Given the description of an element on the screen output the (x, y) to click on. 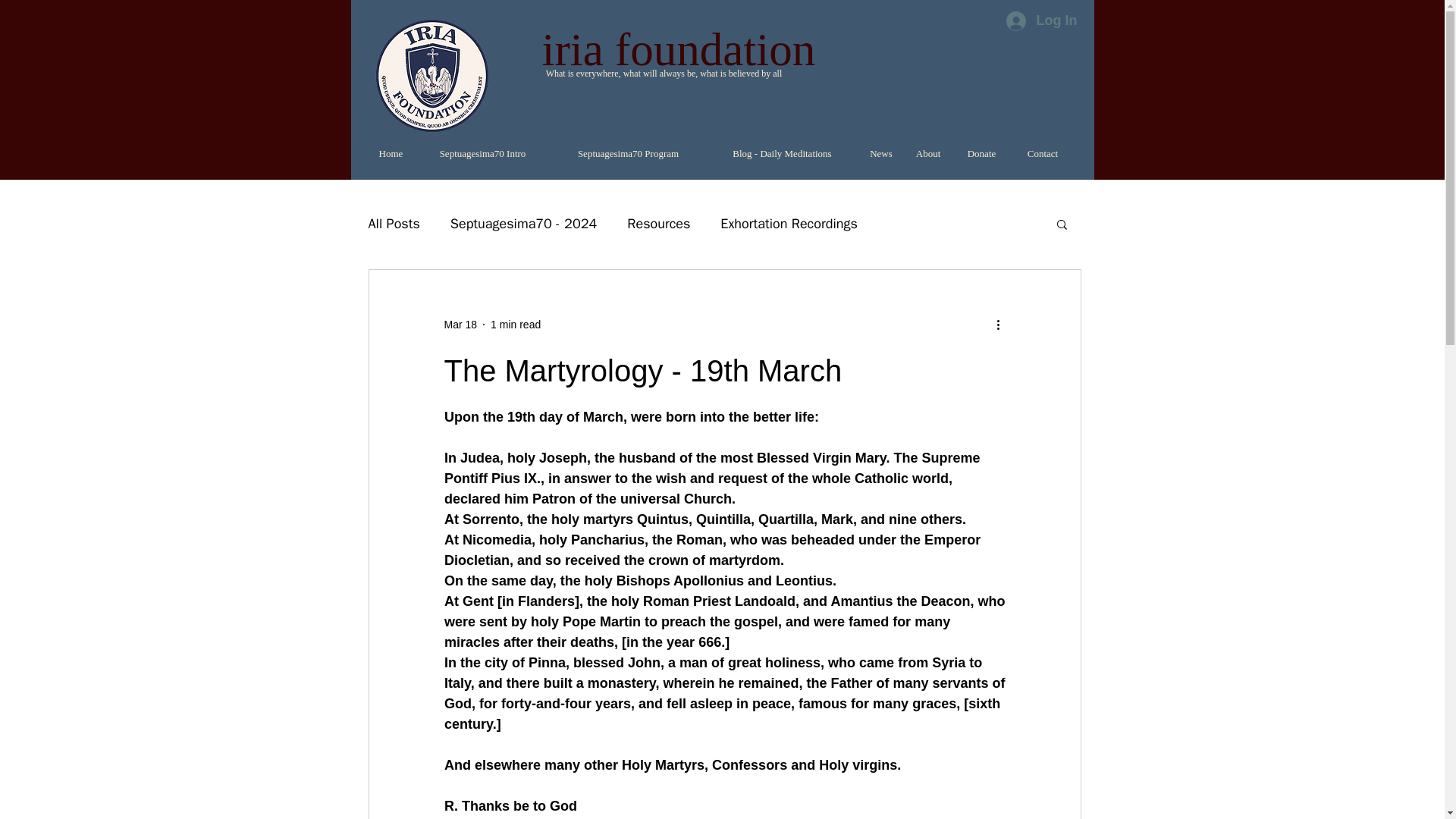
All Posts (394, 223)
Septuagesima70 Intro (481, 153)
Septuagesima70 Program (627, 153)
Blog - Daily Meditations (781, 153)
Septuagesima70 - 2024 (522, 223)
About (928, 153)
Mar 18 (460, 324)
Log In (1040, 20)
News (880, 153)
Contact (1042, 153)
